Given the description of an element on the screen output the (x, y) to click on. 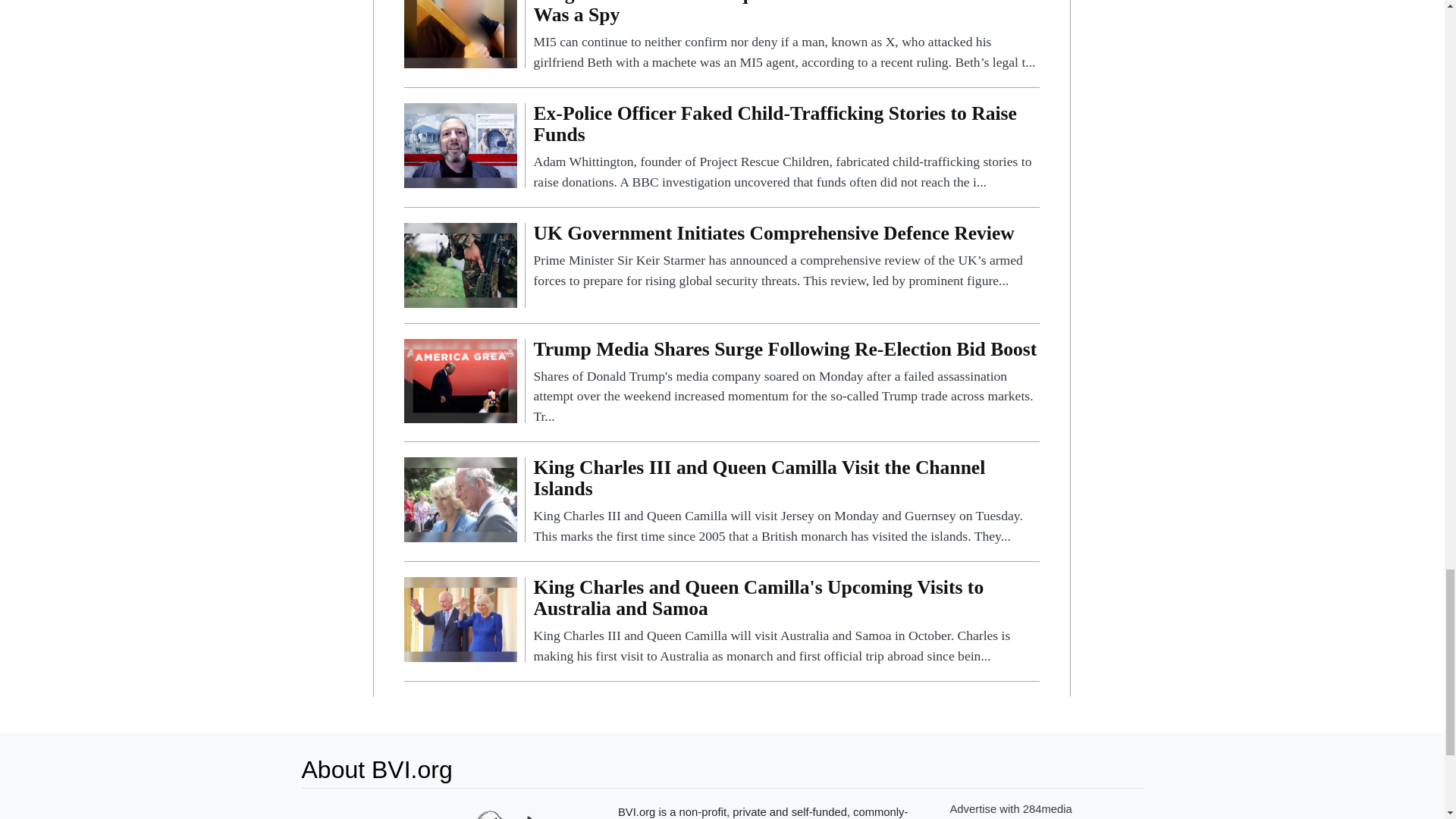
King Charles III and Queen Camilla Visit the Channel Islands (785, 501)
UK Government Initiates Comprehensive Defence Review (785, 256)
King Charles III and Queen Camilla Visit the Channel Islands (460, 498)
UK Government Initiates Comprehensive Defence Review (460, 264)
Trump Media Shares Surge Following Re-Election Bid Boost (460, 379)
Advertise with 284media (1010, 808)
Trump Media Shares Surge Following Re-Election Bid Boost (785, 382)
